Given the description of an element on the screen output the (x, y) to click on. 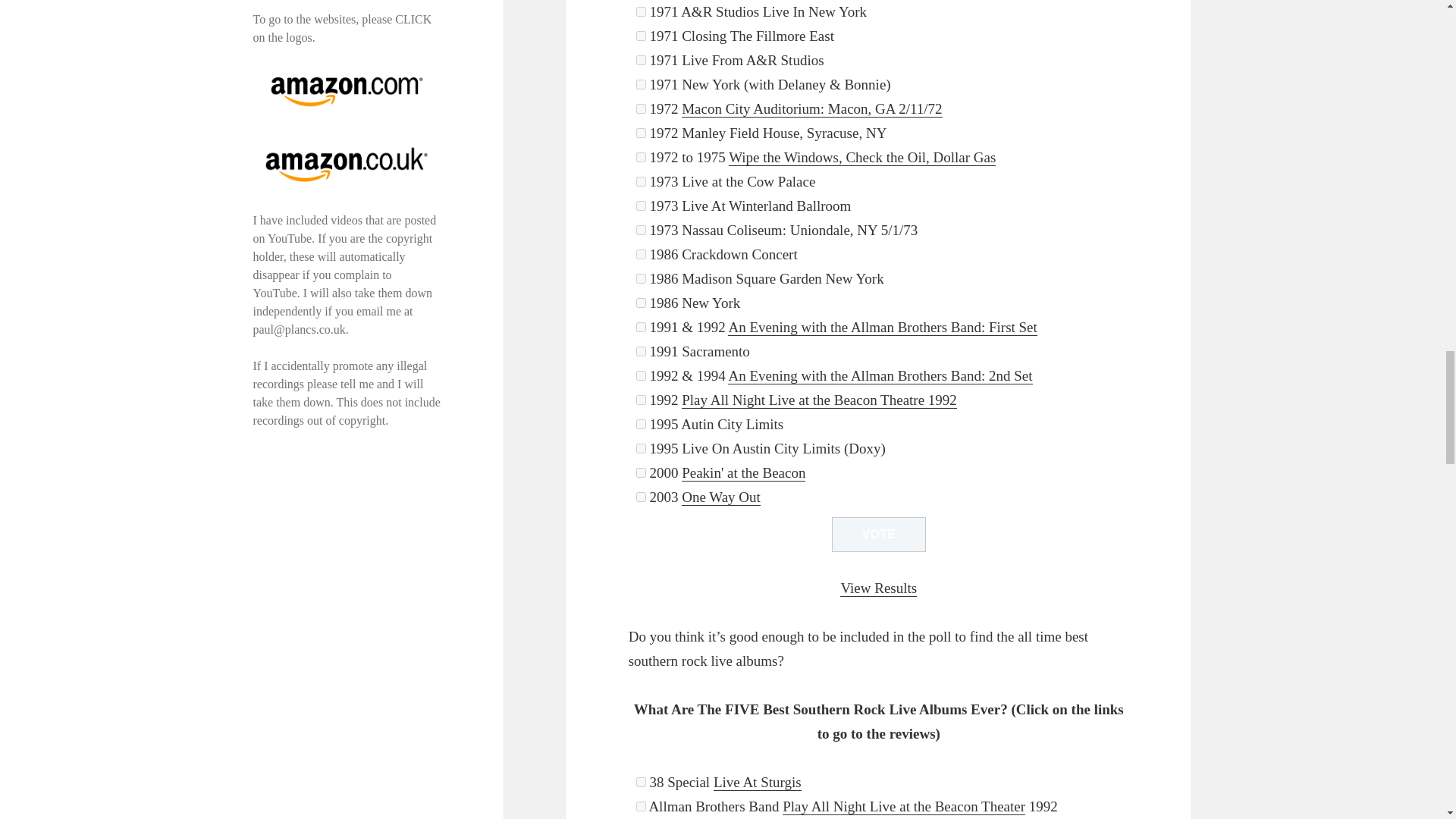
3719 (641, 181)
3718 (641, 132)
3709 (641, 60)
2146 (641, 157)
View Results Of This Poll (878, 588)
3721 (641, 35)
3710 (641, 11)
3716 (641, 84)
2156 (641, 108)
